Given the description of an element on the screen output the (x, y) to click on. 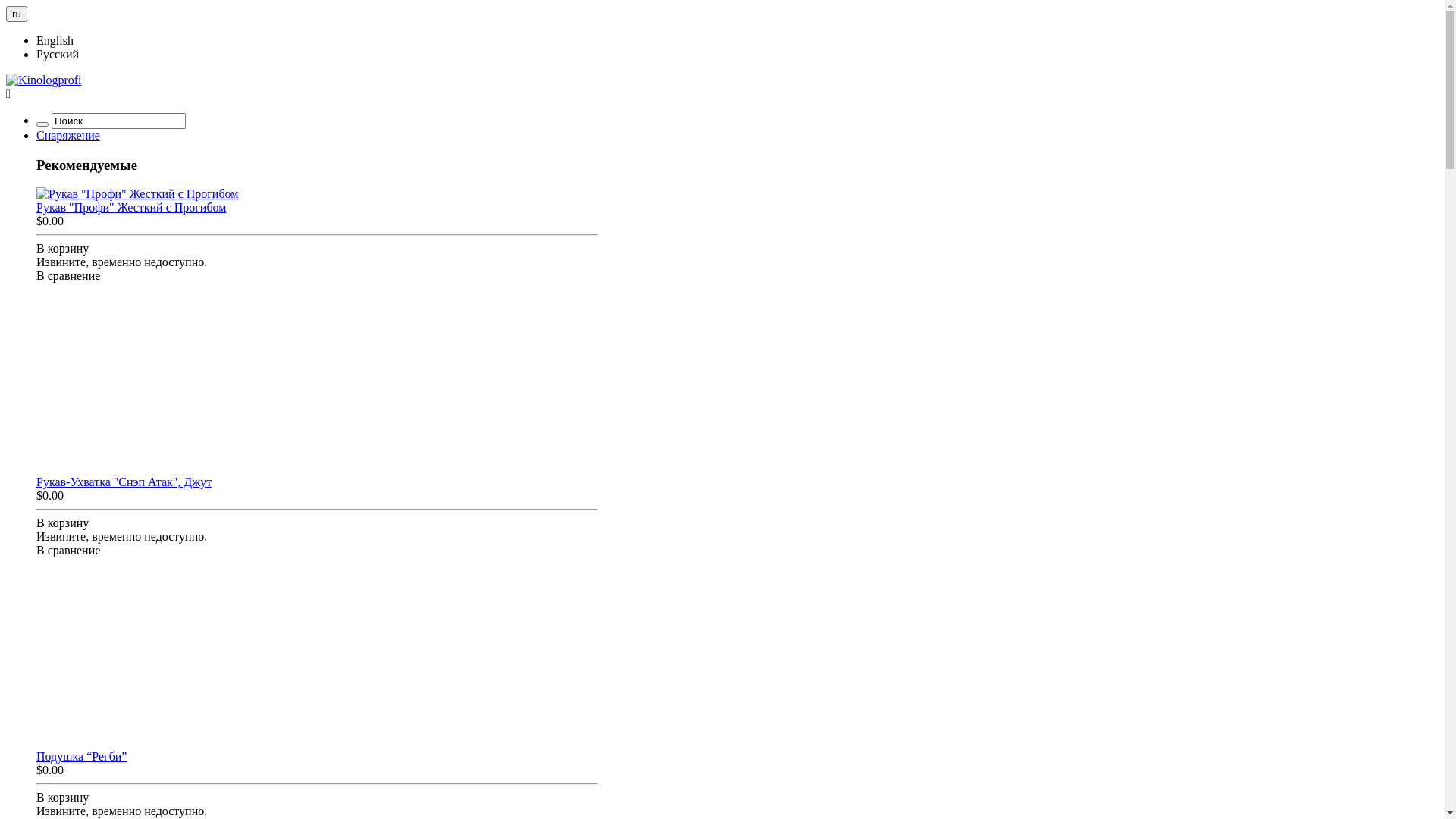
ru Element type: text (16, 13)
English Element type: text (54, 40)
Kinologprofi Element type: hover (43, 80)
